Given the description of an element on the screen output the (x, y) to click on. 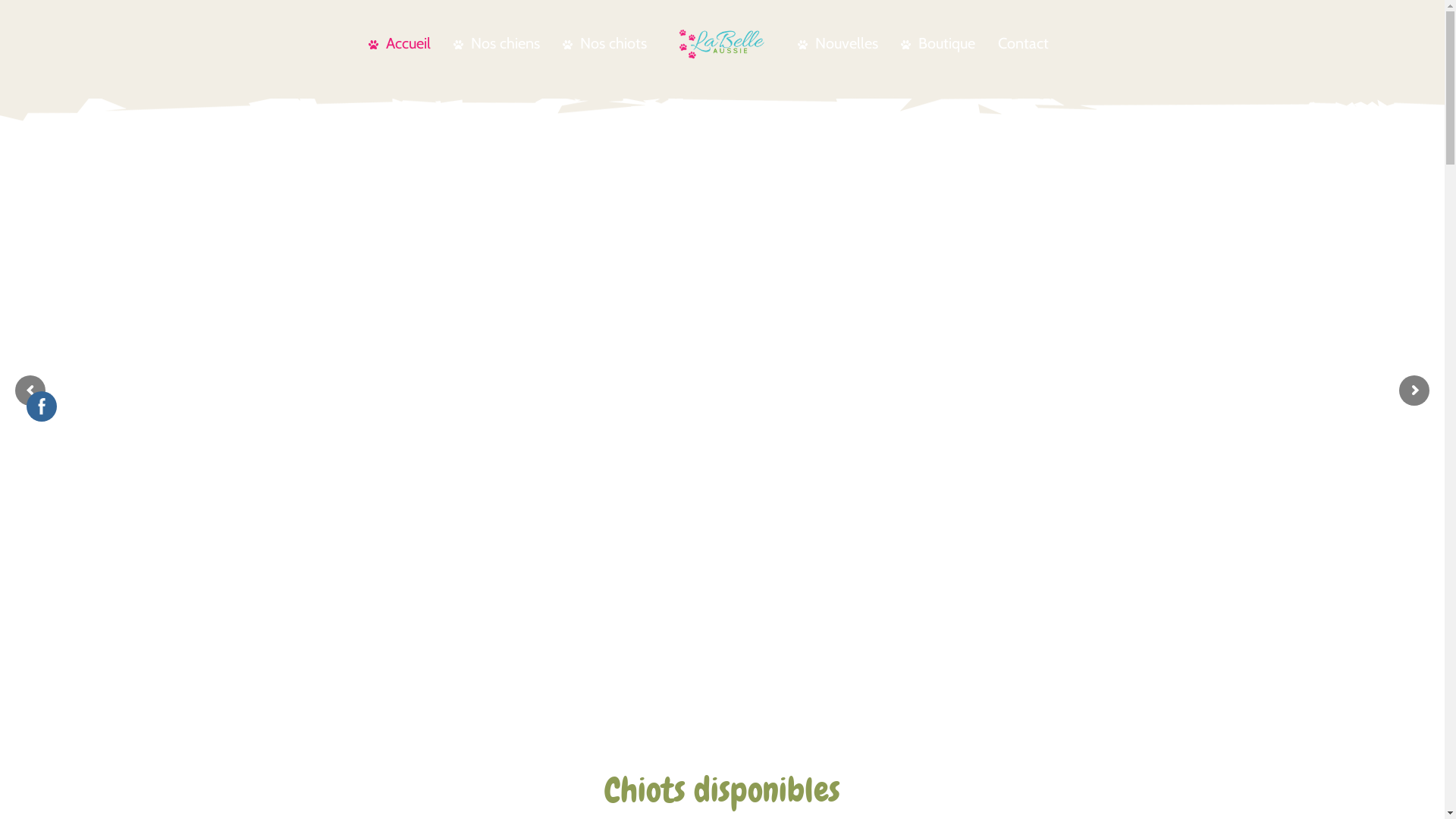
Accueil Element type: text (399, 43)
Boutique Element type: text (938, 43)
Berger Australien Element type: hover (721, 41)
Nos chiens Element type: text (496, 43)
Nouvelles Element type: text (837, 43)
Contact Element type: text (1023, 43)
Berger Australien Element type: hover (721, 41)
Facebook Element type: hover (41, 405)
Nos chiots Element type: text (604, 43)
